Given the description of an element on the screen output the (x, y) to click on. 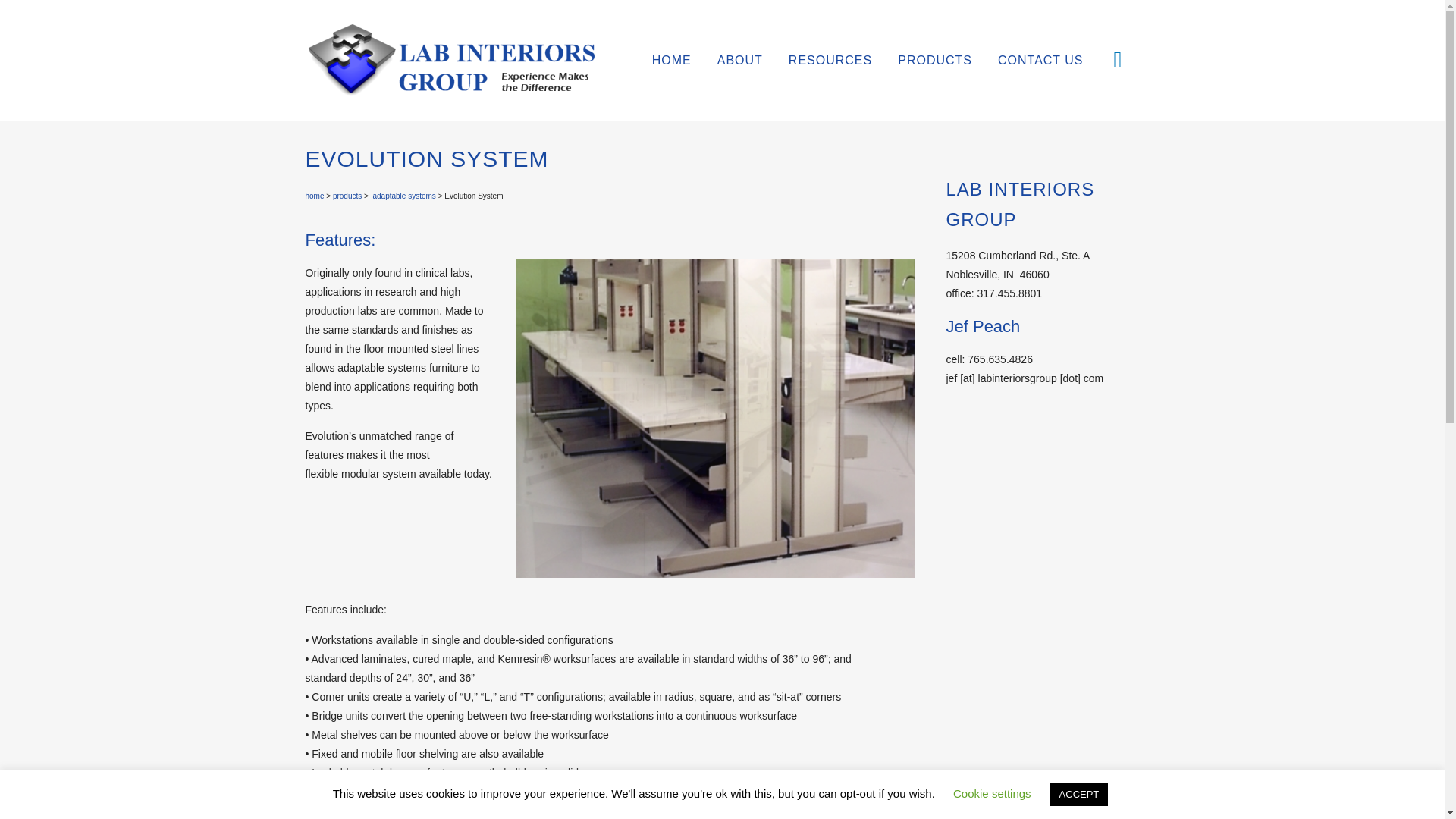
Welcome (313, 195)
PRODUCTS (935, 60)
Products (345, 195)
RESOURCES (830, 60)
HOME (671, 60)
ABOUT (740, 60)
CONTACT US (1040, 60)
